Given the description of an element on the screen output the (x, y) to click on. 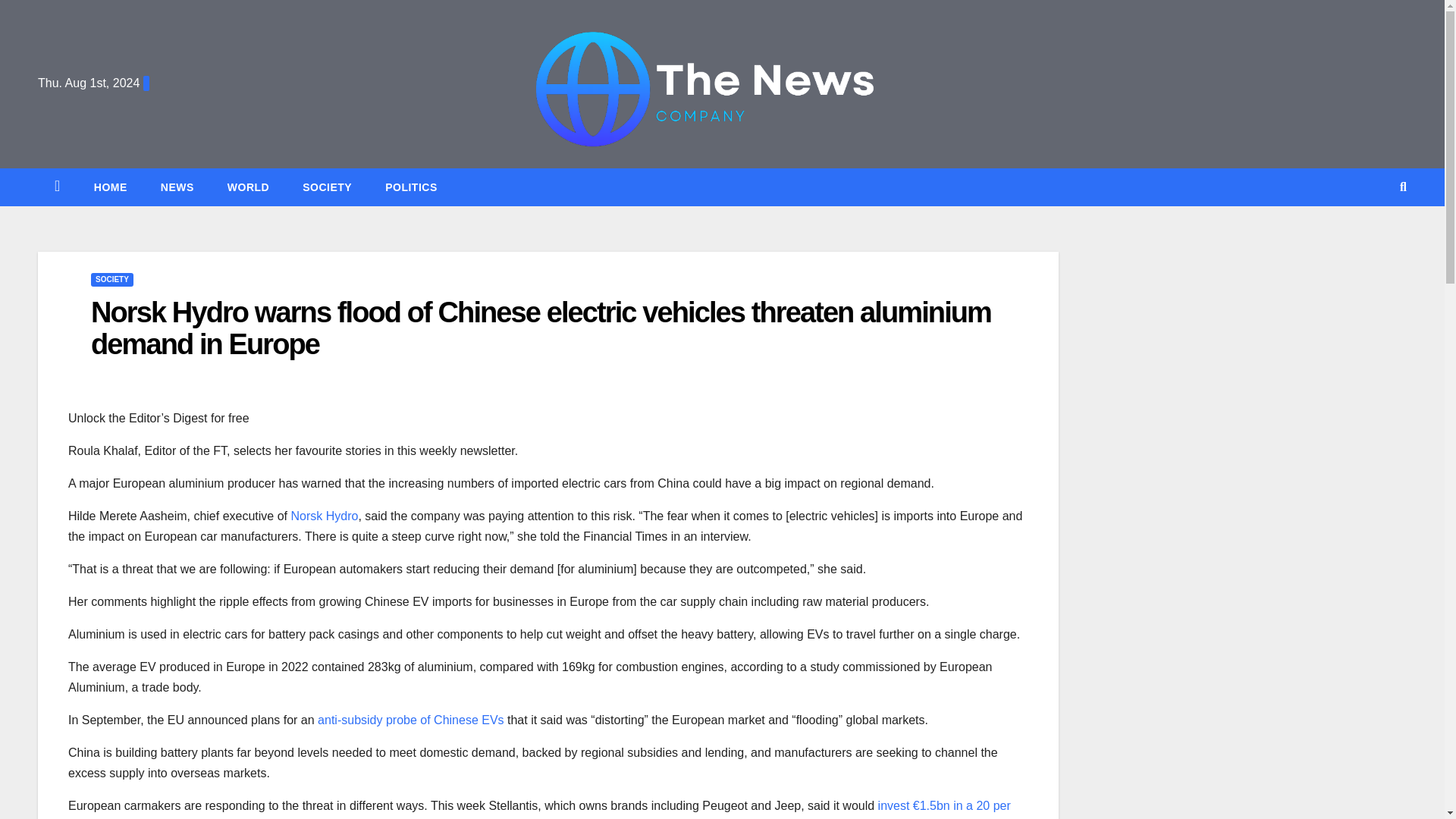
SOCIETY (326, 187)
WORLD (248, 187)
SOCIETY (111, 279)
Home (110, 187)
Norsk Hydro (323, 515)
News (177, 187)
NEWS (177, 187)
World (248, 187)
Politics (411, 187)
